Given the description of an element on the screen output the (x, y) to click on. 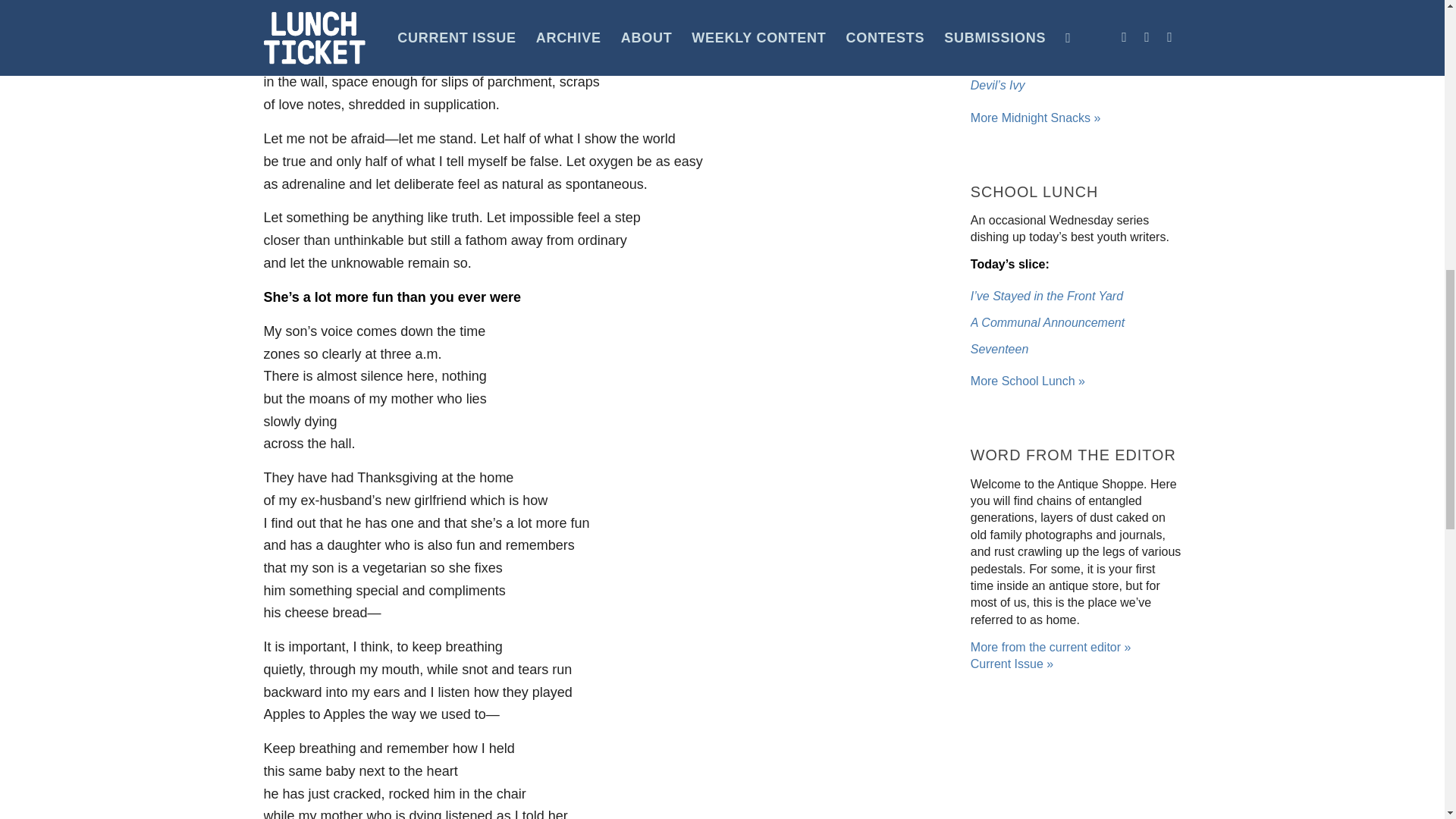
Permanent Link: A Family That Prays Together (1050, 32)
Permanent Link: Seventeen (1000, 349)
Permanent Link: A Communal Announcement (1047, 322)
Welcome to Lunch Ticket (1027, 380)
Permanent Link: The Heartbeat of the Earth (1042, 59)
